Given the description of an element on the screen output the (x, y) to click on. 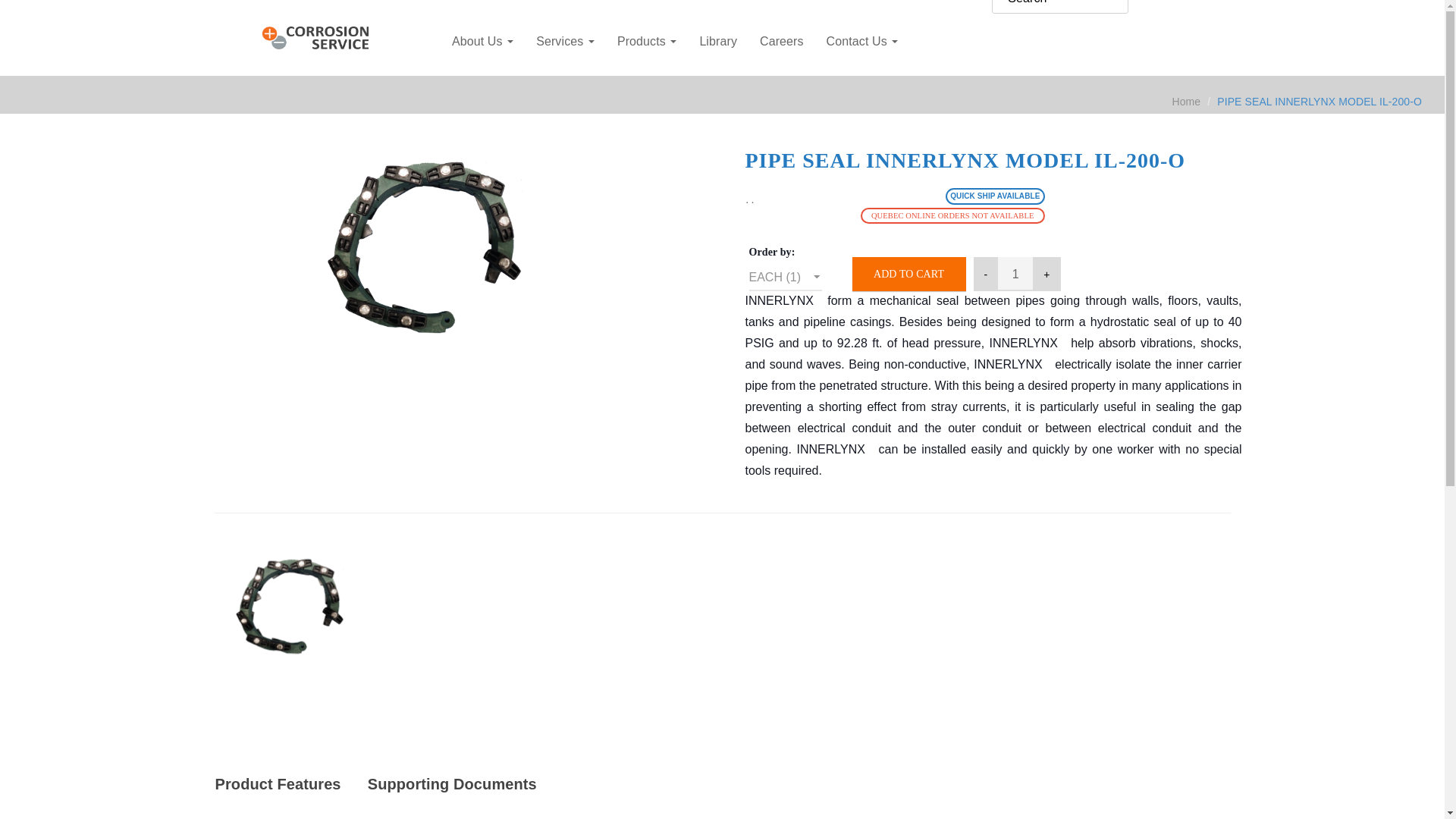
Products (646, 40)
Services (564, 40)
PIPE SEAL INNERLYNX MODEL IL-200-O (289, 605)
Library (717, 40)
1 (1014, 274)
Careers (781, 40)
About Us (482, 40)
Contact Us (862, 40)
